Given the description of an element on the screen output the (x, y) to click on. 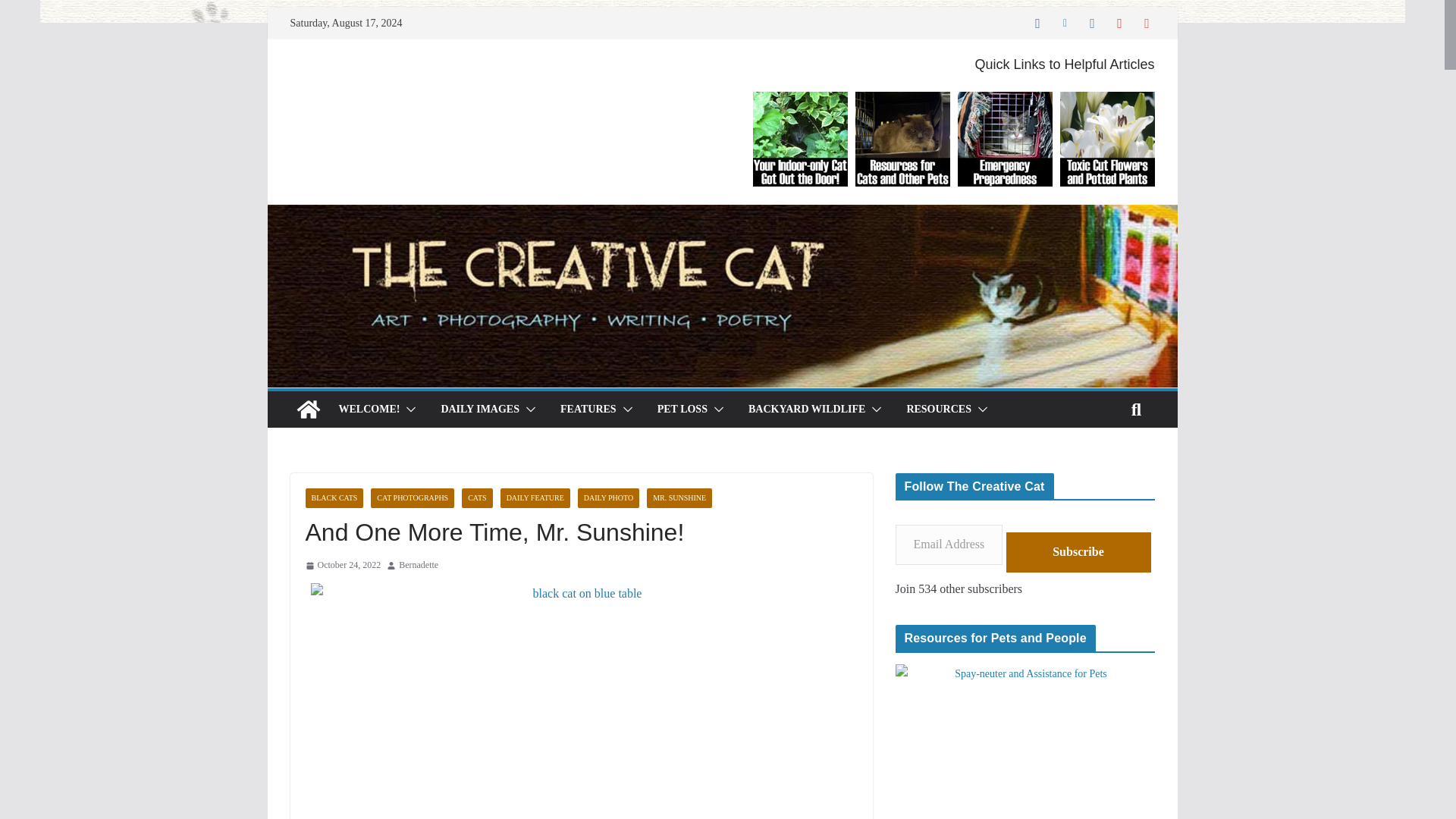
WELCOME! (367, 409)
The Creative Cat (307, 409)
FEATURES (587, 409)
The Creative Cat (721, 214)
Lakota in carrier (1024, 741)
2:55 am (342, 565)
Bernadette (418, 565)
DAILY IMAGES (480, 409)
